Given the description of an element on the screen output the (x, y) to click on. 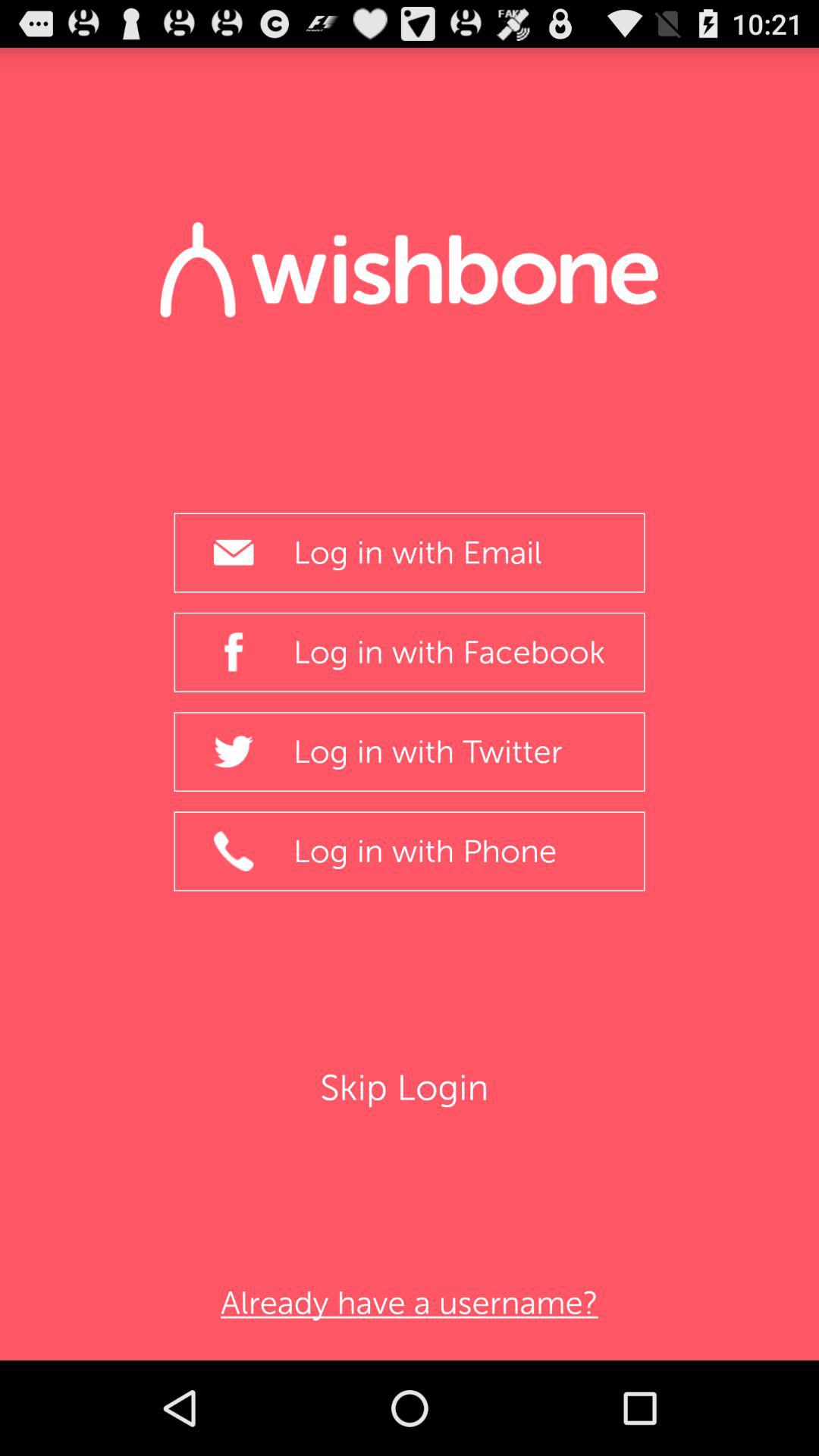
launch the item above the already have a item (409, 1087)
